Given the description of an element on the screen output the (x, y) to click on. 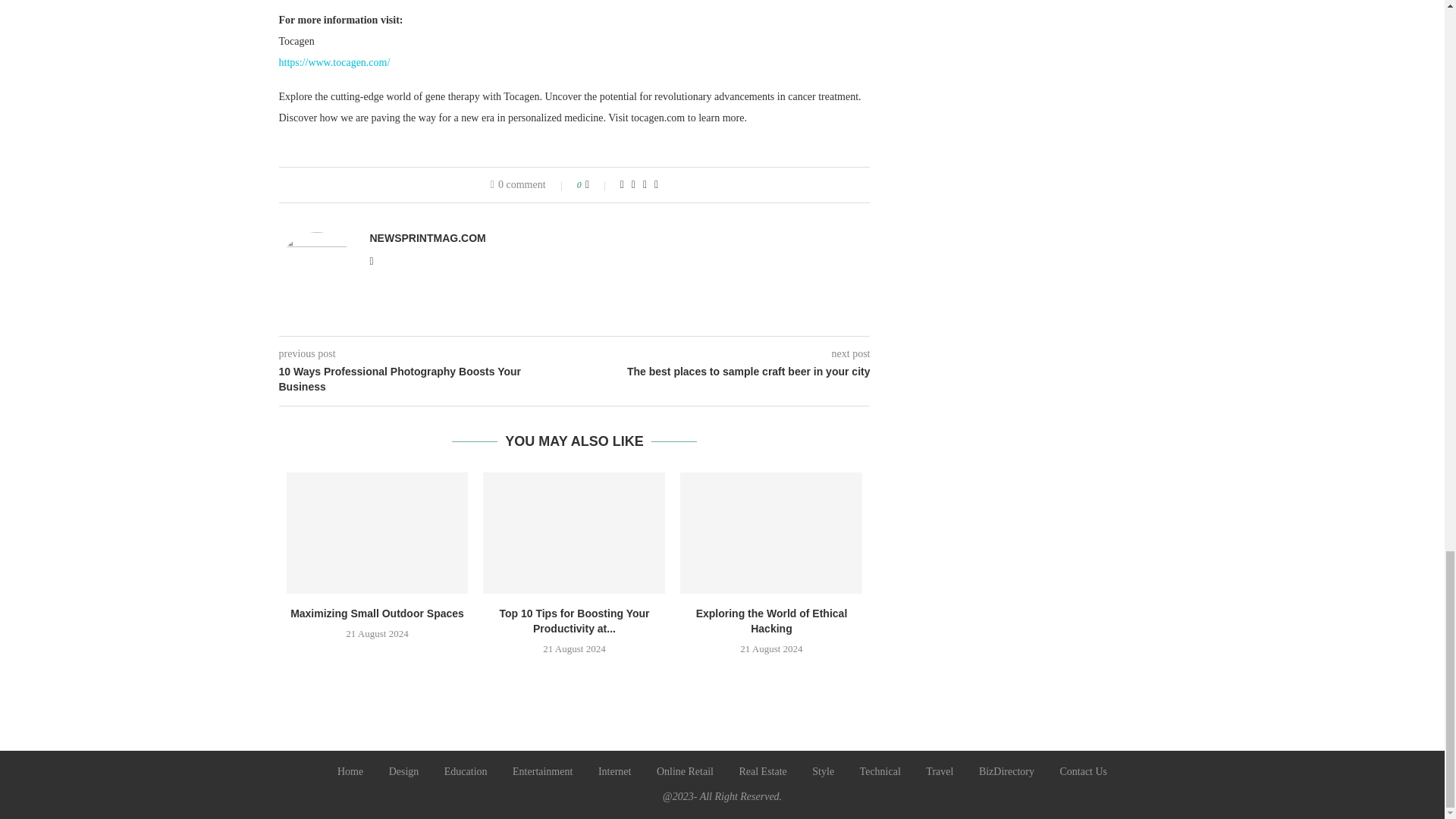
Maximizing Small Outdoor Spaces (377, 532)
Author newsprintmag.com (427, 237)
Exploring the World of Ethical Hacking (770, 532)
Like (597, 184)
Top 10 Tips for Boosting Your Productivity at Work (574, 532)
